Given the description of an element on the screen output the (x, y) to click on. 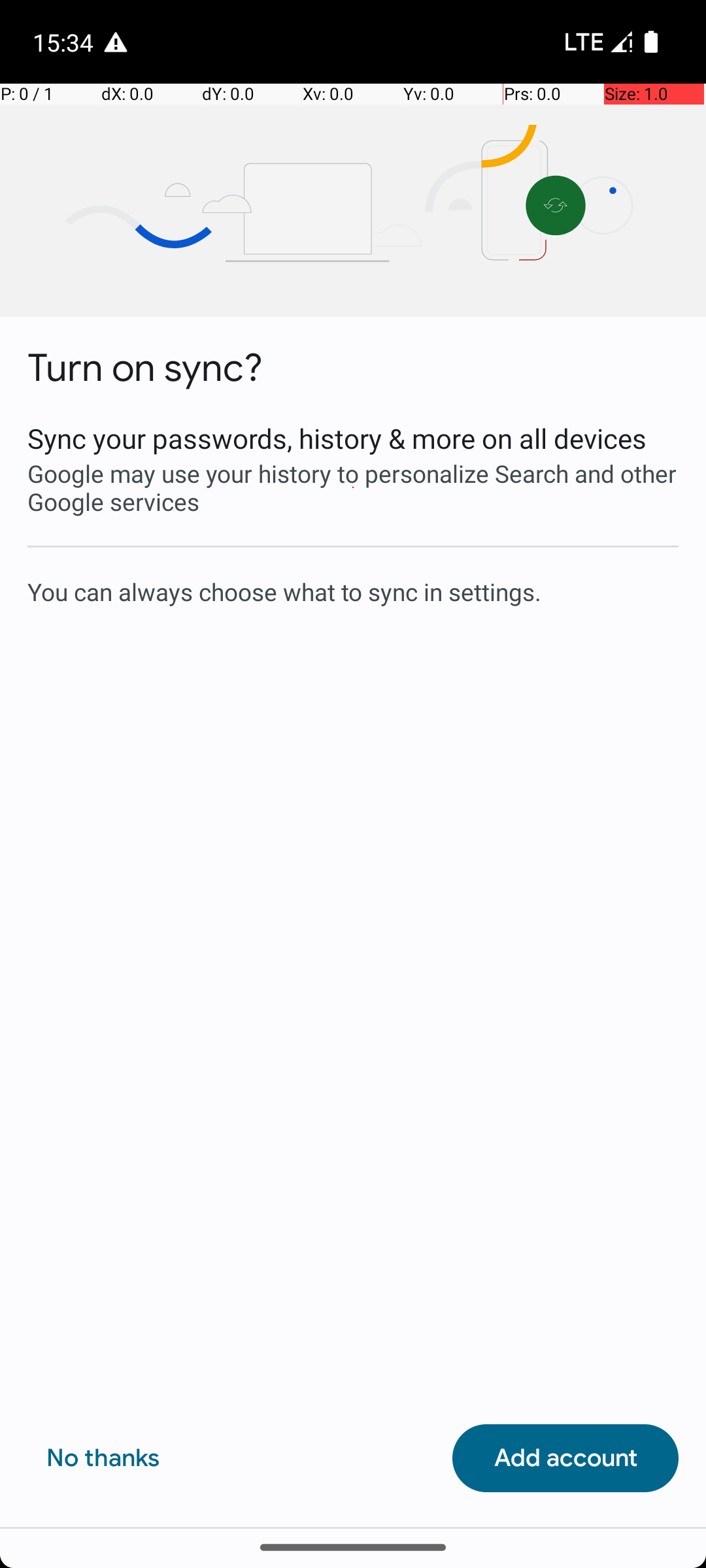
No thanks Element type: android.widget.Button (102, 1458)
Add account Element type: android.widget.Button (565, 1458)
Turn on sync? Element type: android.widget.TextView (144, 368)
Sync your passwords, history & more on all devices Element type: android.widget.TextView (352, 437)
Google may use your history to personalize Search and other Google services Element type: android.widget.TextView (352, 487)
You can always choose what to sync in settings. Element type: android.widget.TextView (352, 591)
